Given the description of an element on the screen output the (x, y) to click on. 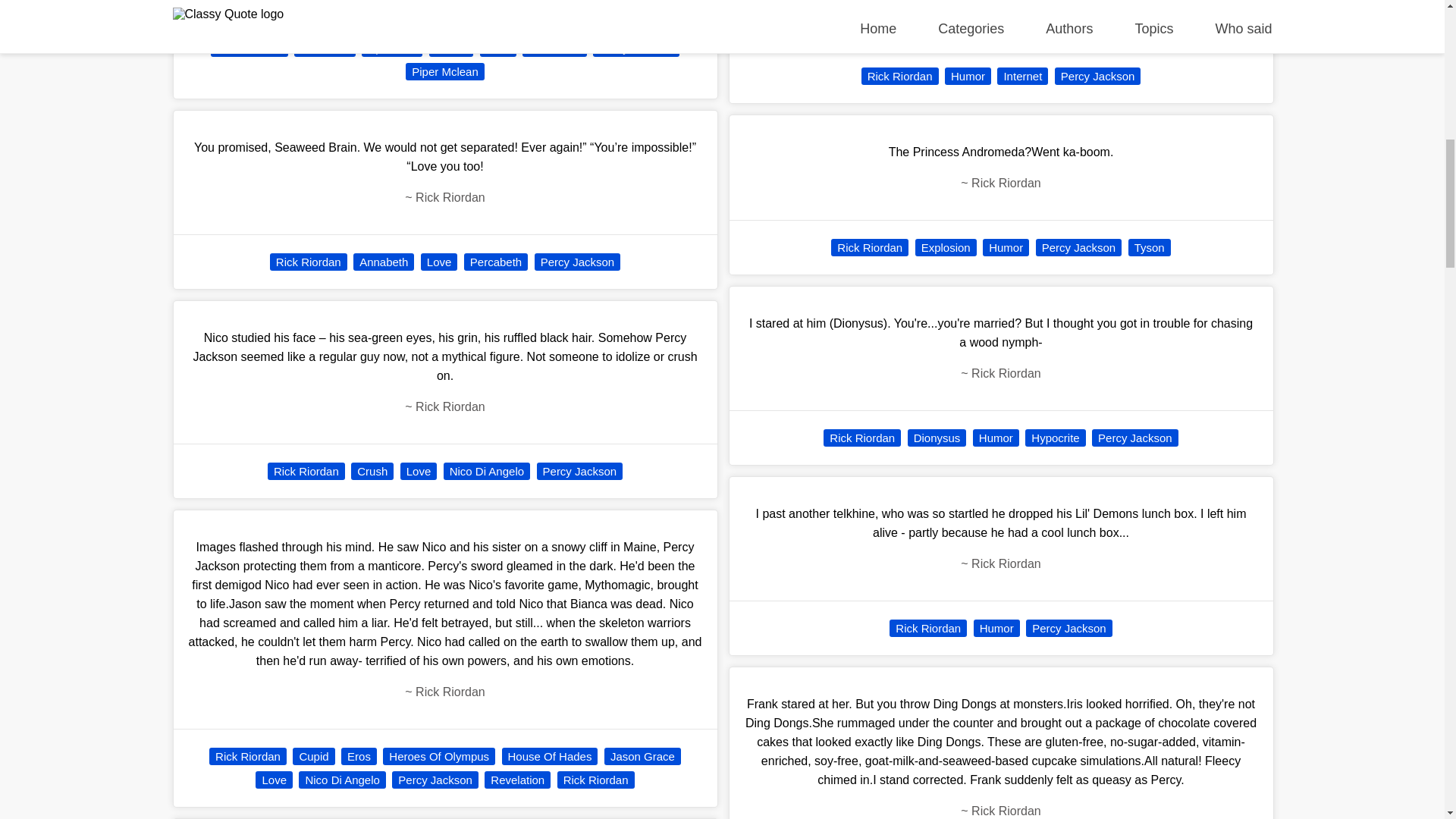
Percy Jackson (635, 47)
Love (419, 470)
Nico Di Angelo (486, 470)
Rick Riordan (249, 47)
Annabeth (324, 47)
Percy Jackson (577, 262)
Aphrodite (391, 47)
Crush (371, 470)
Piper Mclean (445, 71)
Percabeth (495, 262)
Percabeth (554, 47)
Annabeth (383, 262)
Rick Riordan (308, 262)
Rick Riordan (306, 470)
Awww (451, 47)
